Given the description of an element on the screen output the (x, y) to click on. 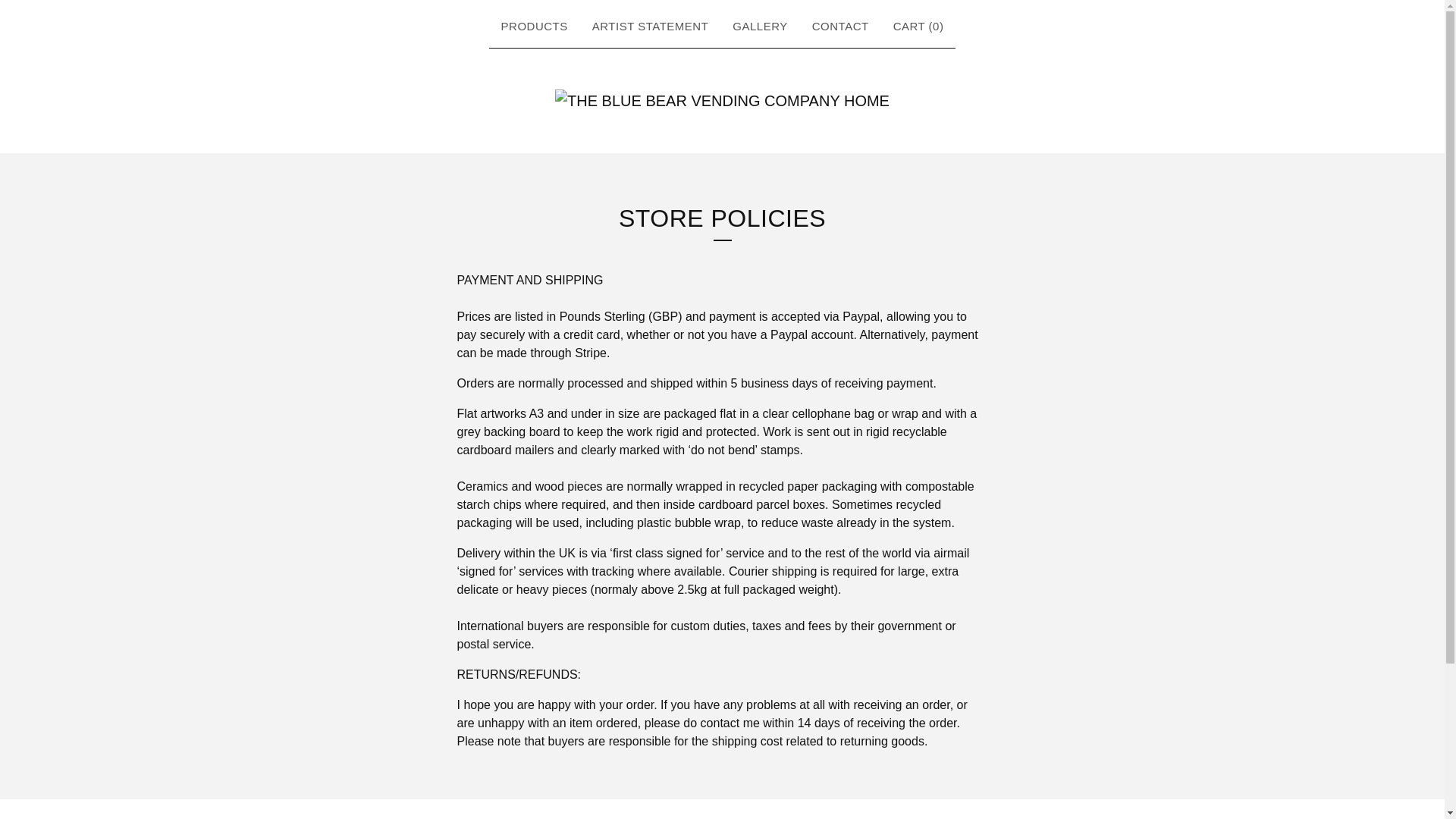
GALLERY (759, 26)
CONTACT (840, 26)
ARTIST STATEMENT (650, 26)
View gallery (759, 26)
PRODUCTS (534, 26)
View Artist Statement (650, 26)
Home (721, 100)
